Given the description of an element on the screen output the (x, y) to click on. 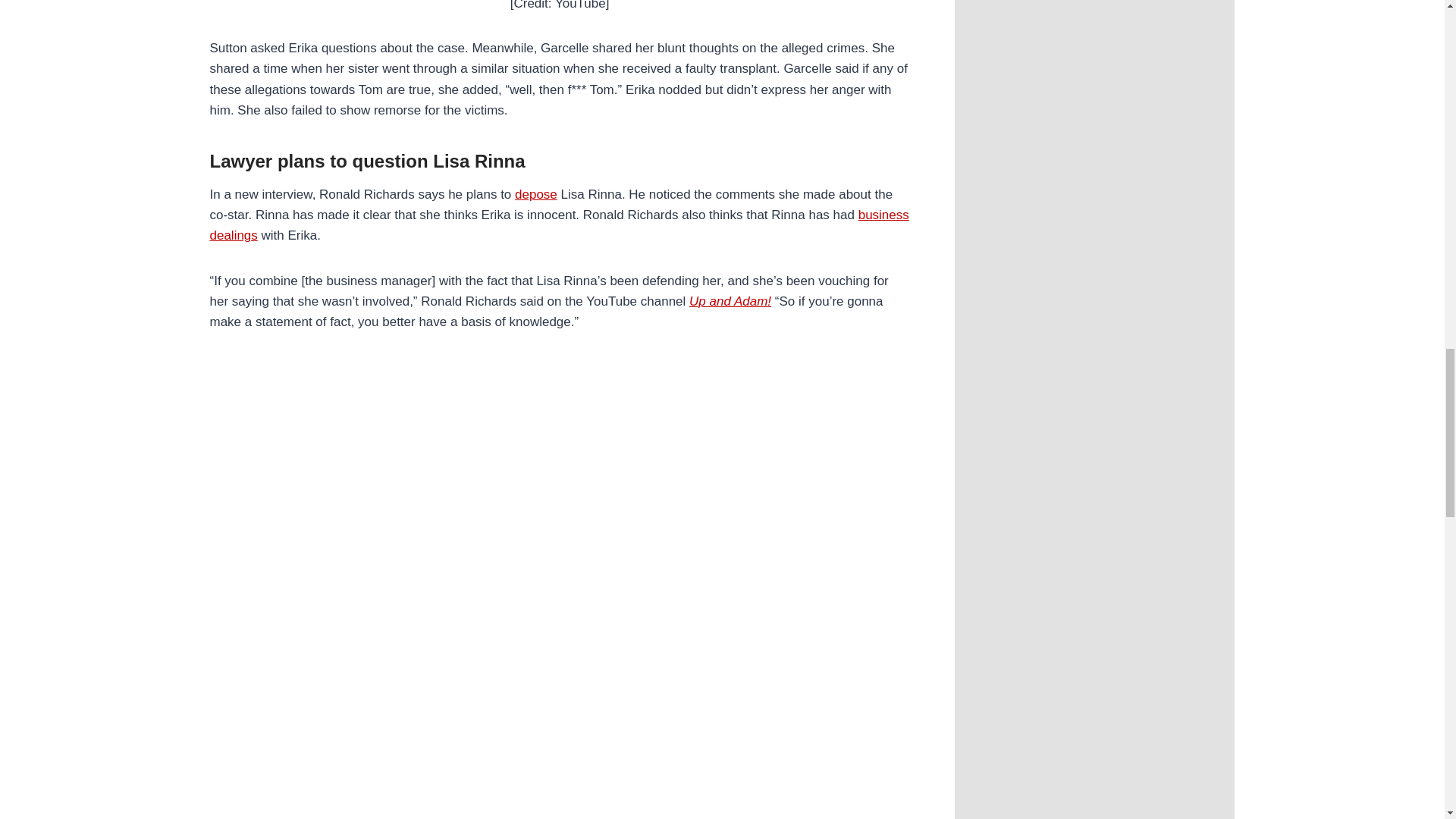
depose (536, 194)
Up and Adam! (729, 301)
business dealings (558, 225)
